Given the description of an element on the screen output the (x, y) to click on. 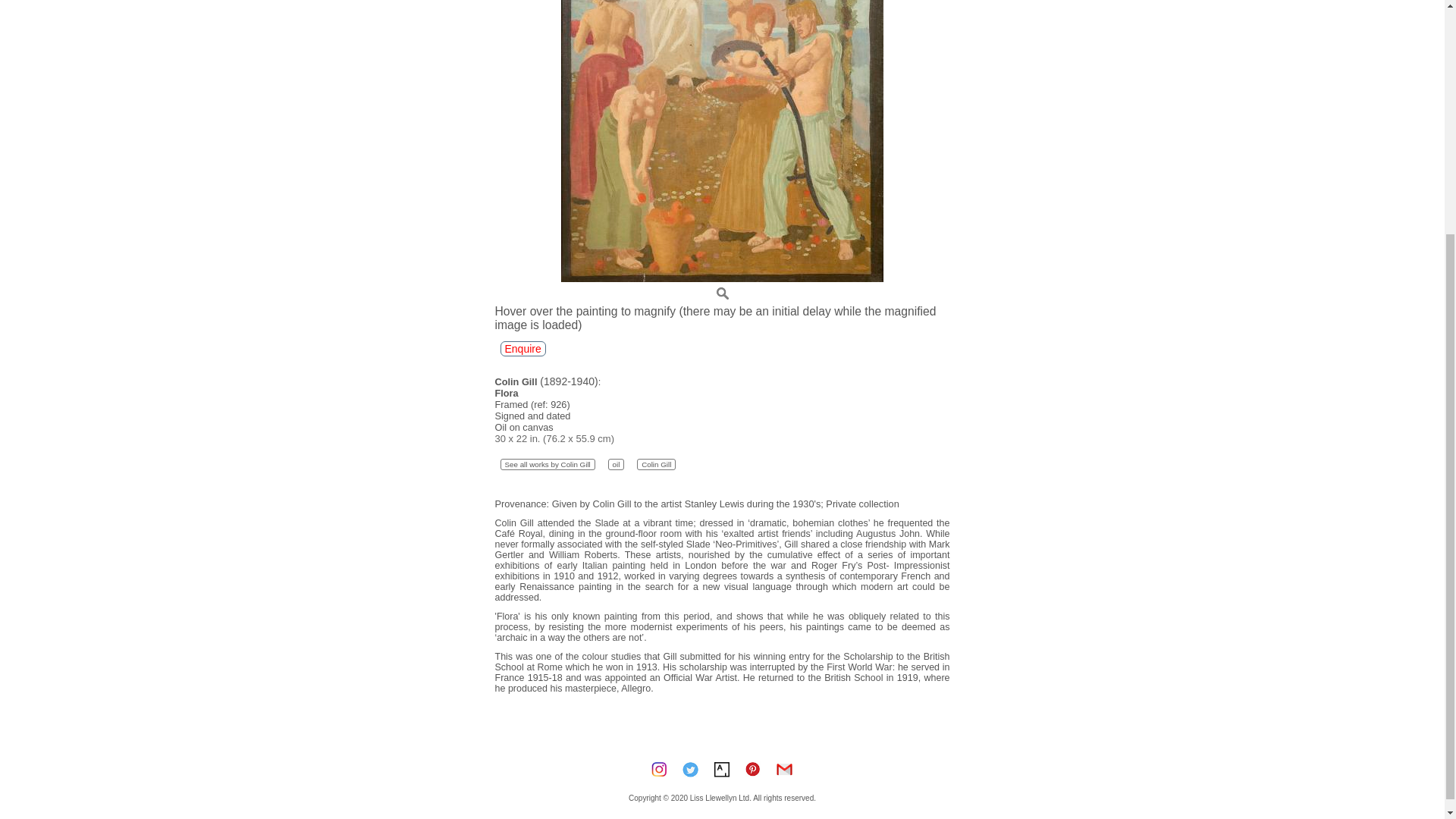
Enquire (523, 348)
oil (616, 464)
Enquire about this artwork (523, 348)
Colin Gill (656, 464)
Share on Pinterest (752, 768)
See all works by Colin Gill (547, 464)
